Given the description of an element on the screen output the (x, y) to click on. 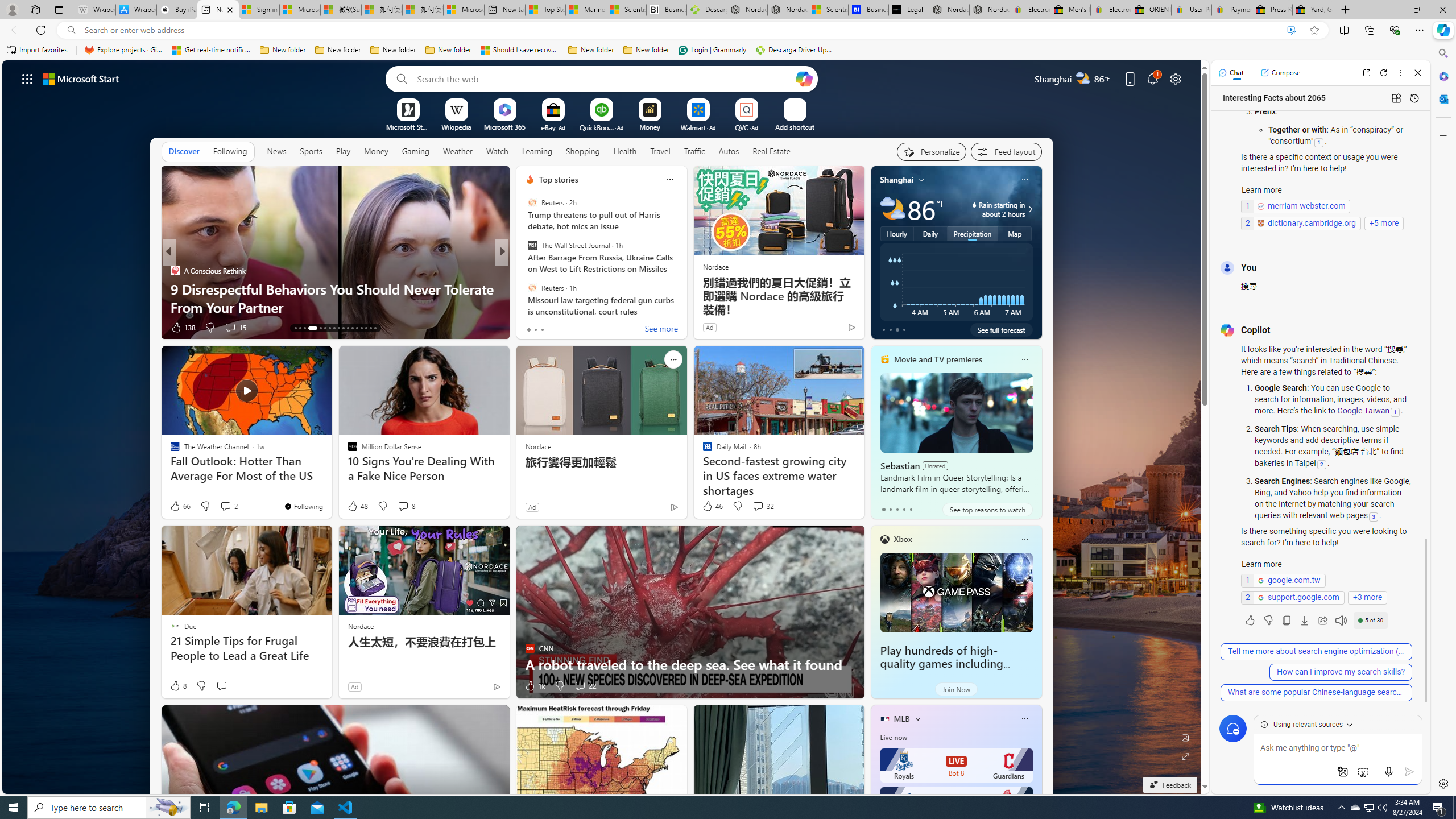
GOBankingRates (524, 270)
Search icon (70, 29)
5k Like (530, 327)
AutomationID: tab-17 (317, 328)
Minimize Search pane (1442, 53)
water-drop-icon Rain starting in about 2 hours (988, 208)
